Given the description of an element on the screen output the (x, y) to click on. 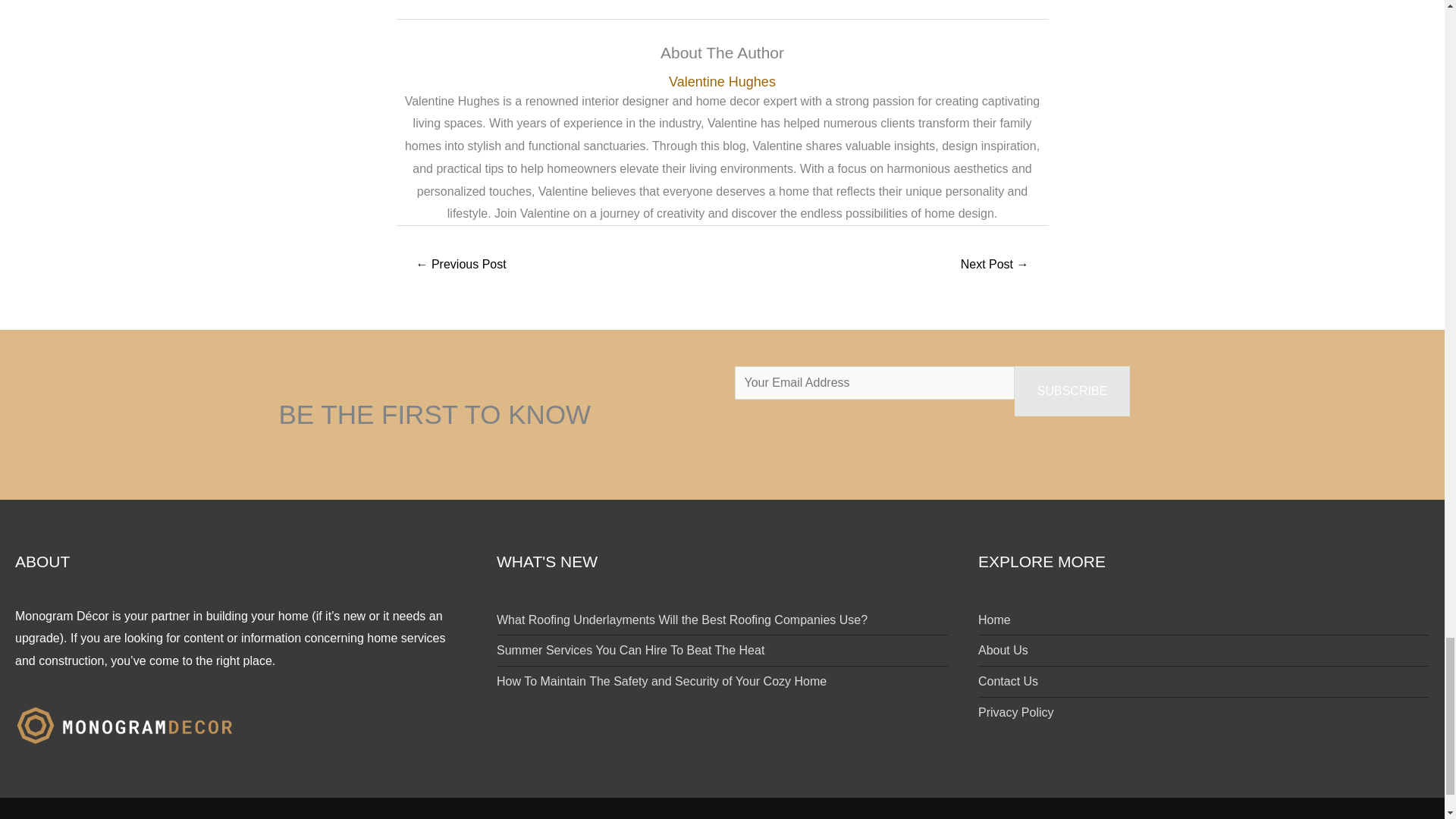
SUBSCRIBE (1071, 391)
SUBSCRIBE (1071, 391)
Privacy Policy (1016, 712)
Contact Us (1008, 680)
Valentine Hughes (722, 82)
Keeping Your Home Green All Year Round: What to Do (994, 265)
How To Maintain The Safety and Security of Your Cozy Home (661, 680)
Home (994, 618)
Summer Services You Can Hire To Beat The Heat (630, 649)
About Us (1002, 649)
